Given the description of an element on the screen output the (x, y) to click on. 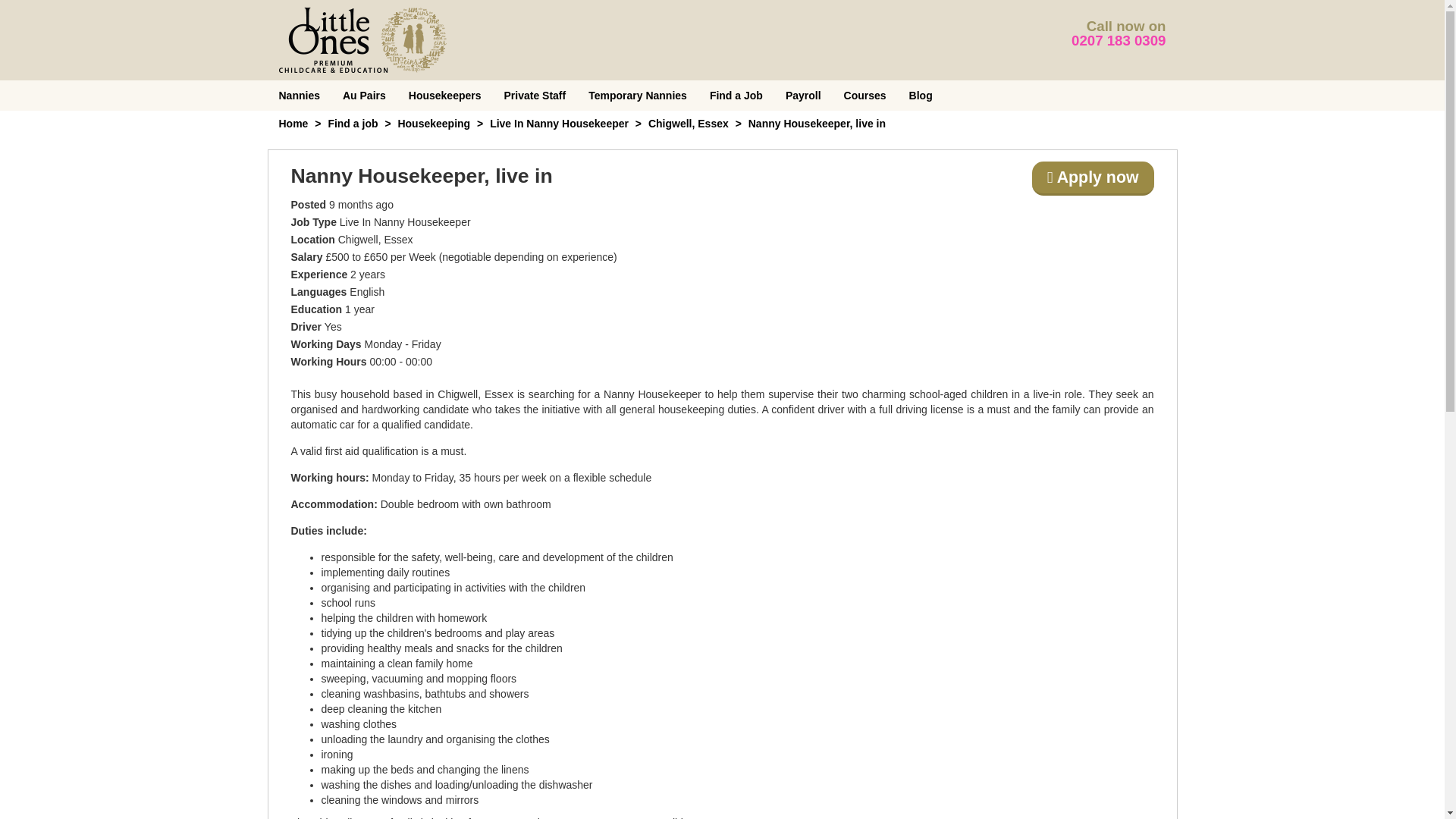
Housekeepers (445, 95)
0207 183 0309 (1118, 40)
Au Pairs (364, 95)
Nannies (298, 95)
